Given the description of an element on the screen output the (x, y) to click on. 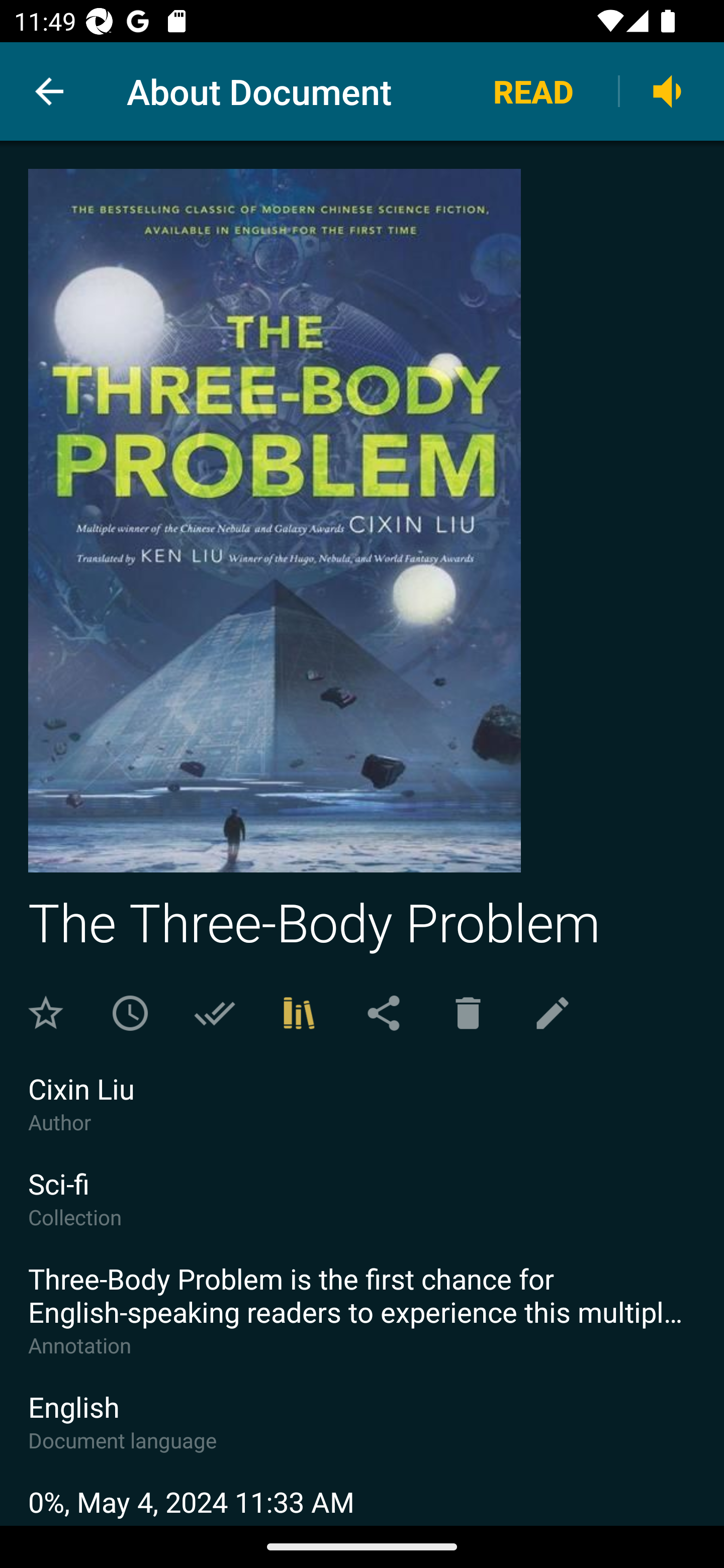
Back (49, 91)
READ (533, 90)
Add to Favorites (45, 1012)
Add to To read (130, 1012)
Add to Have read (214, 1012)
Collections (1) (299, 1012)
Share file (383, 1012)
Move to Trash (467, 1012)
Edit (552, 1012)
Cixin Liu Author (362, 1117)
Sci-fi Collection (362, 1212)
English Document language (362, 1435)
